Given the description of an element on the screen output the (x, y) to click on. 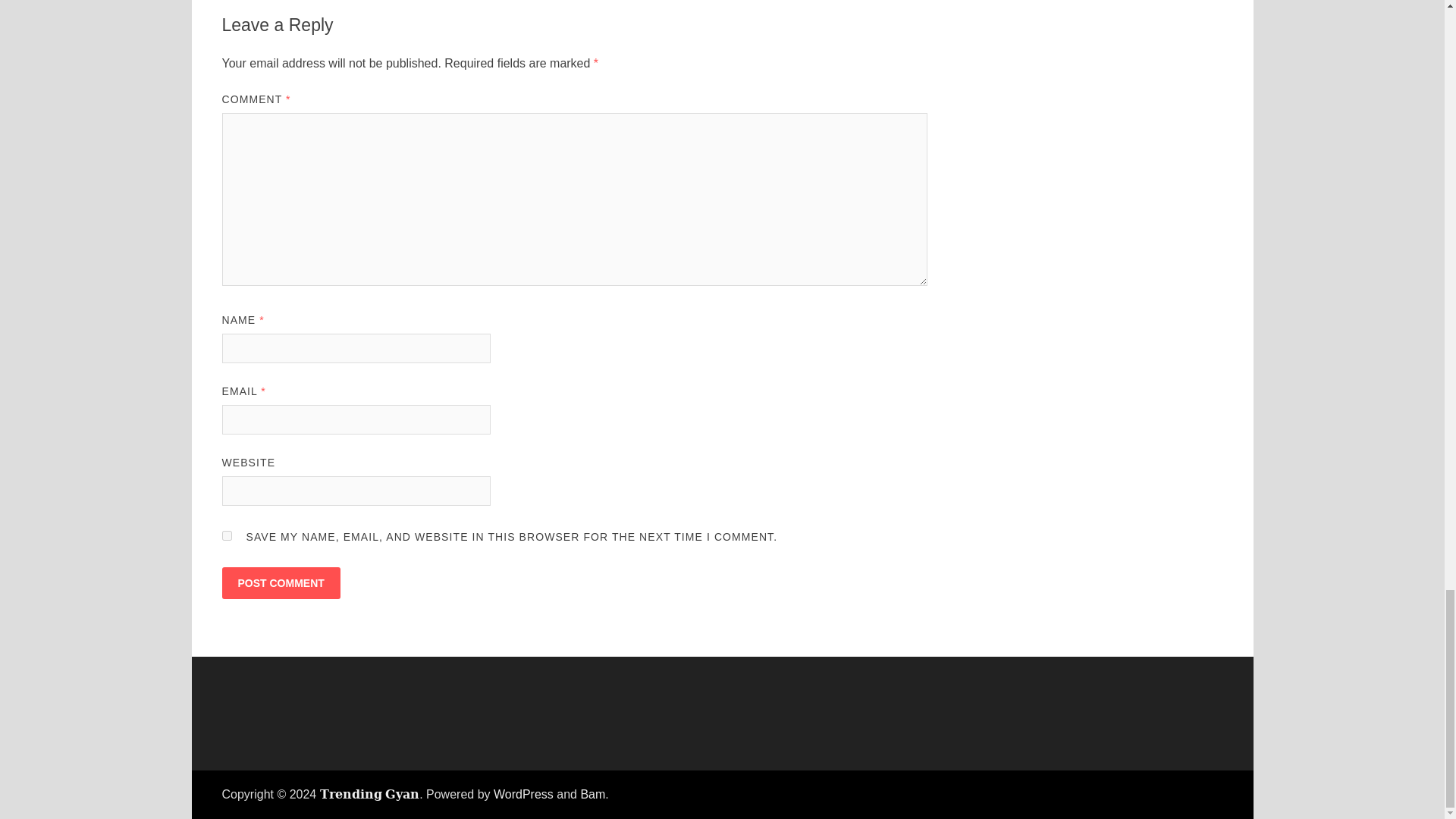
Post Comment (280, 582)
yes (226, 534)
